Given the description of an element on the screen output the (x, y) to click on. 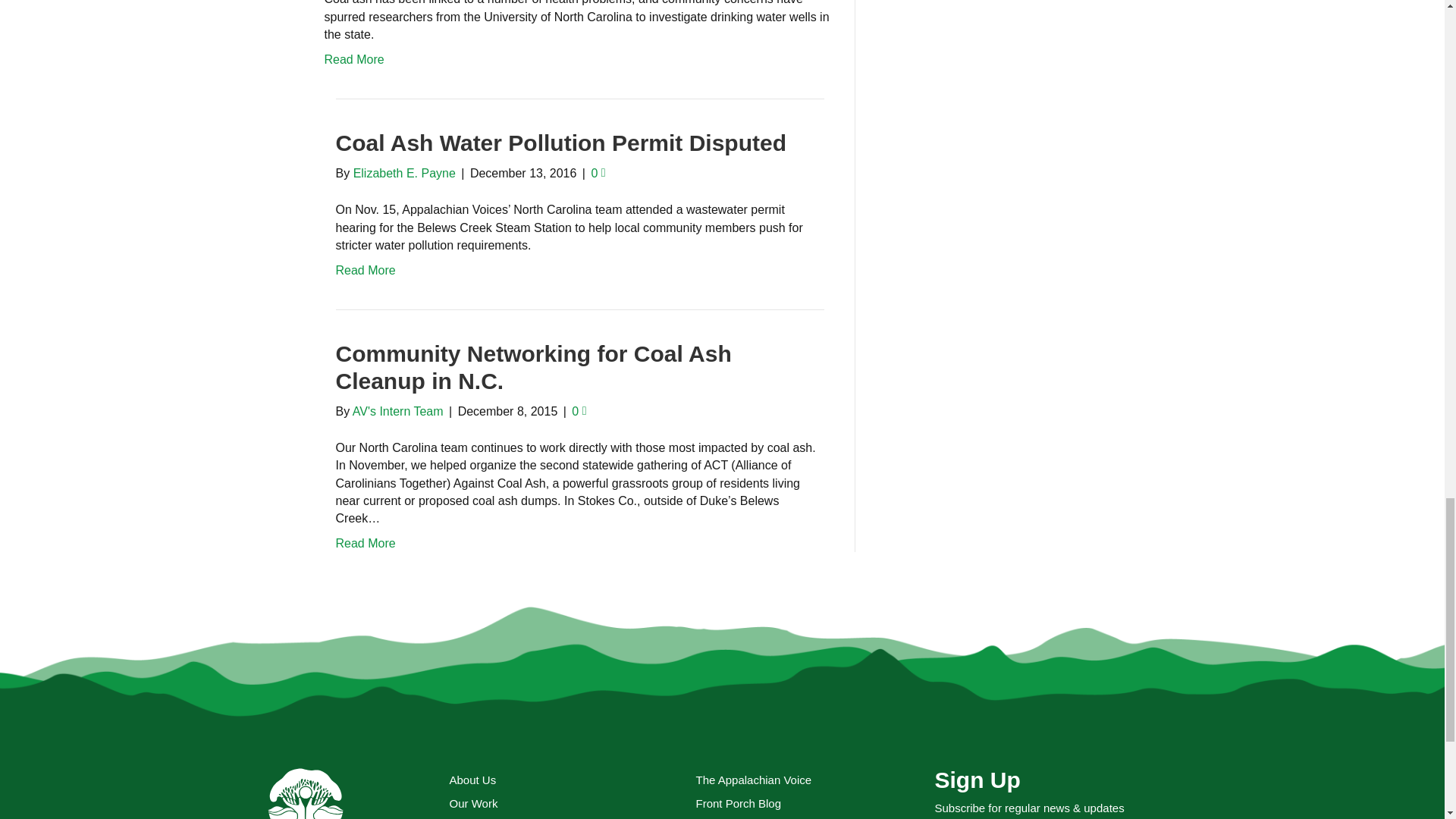
Coal Ash Water Pollution Permit Disputed (560, 142)
AppVoices-logo-stacked-white (304, 791)
Community Networking for Coal Ash Cleanup in N.C. (532, 367)
